Given the description of an element on the screen output the (x, y) to click on. 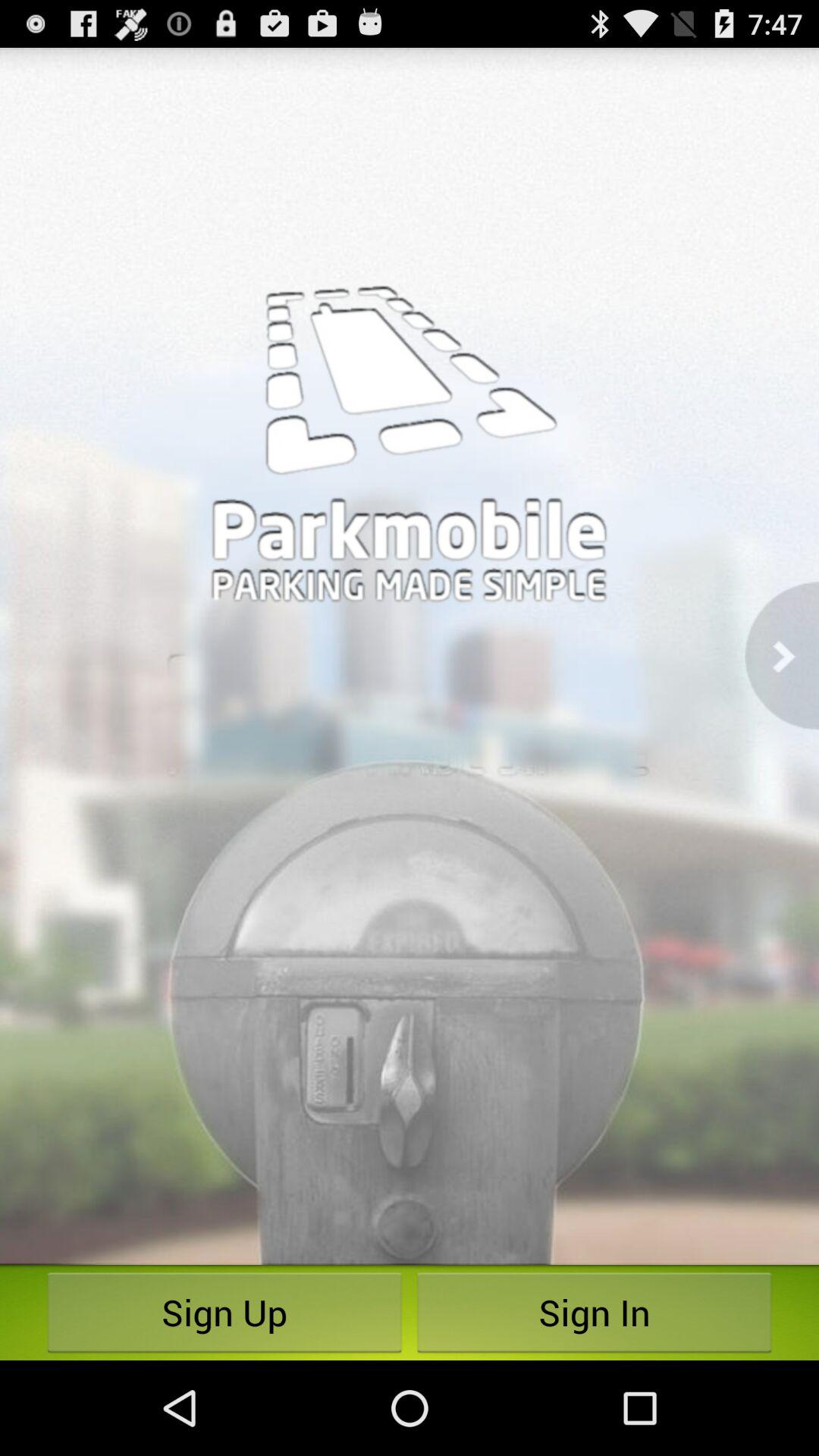
choose sign in item (594, 1312)
